Given the description of an element on the screen output the (x, y) to click on. 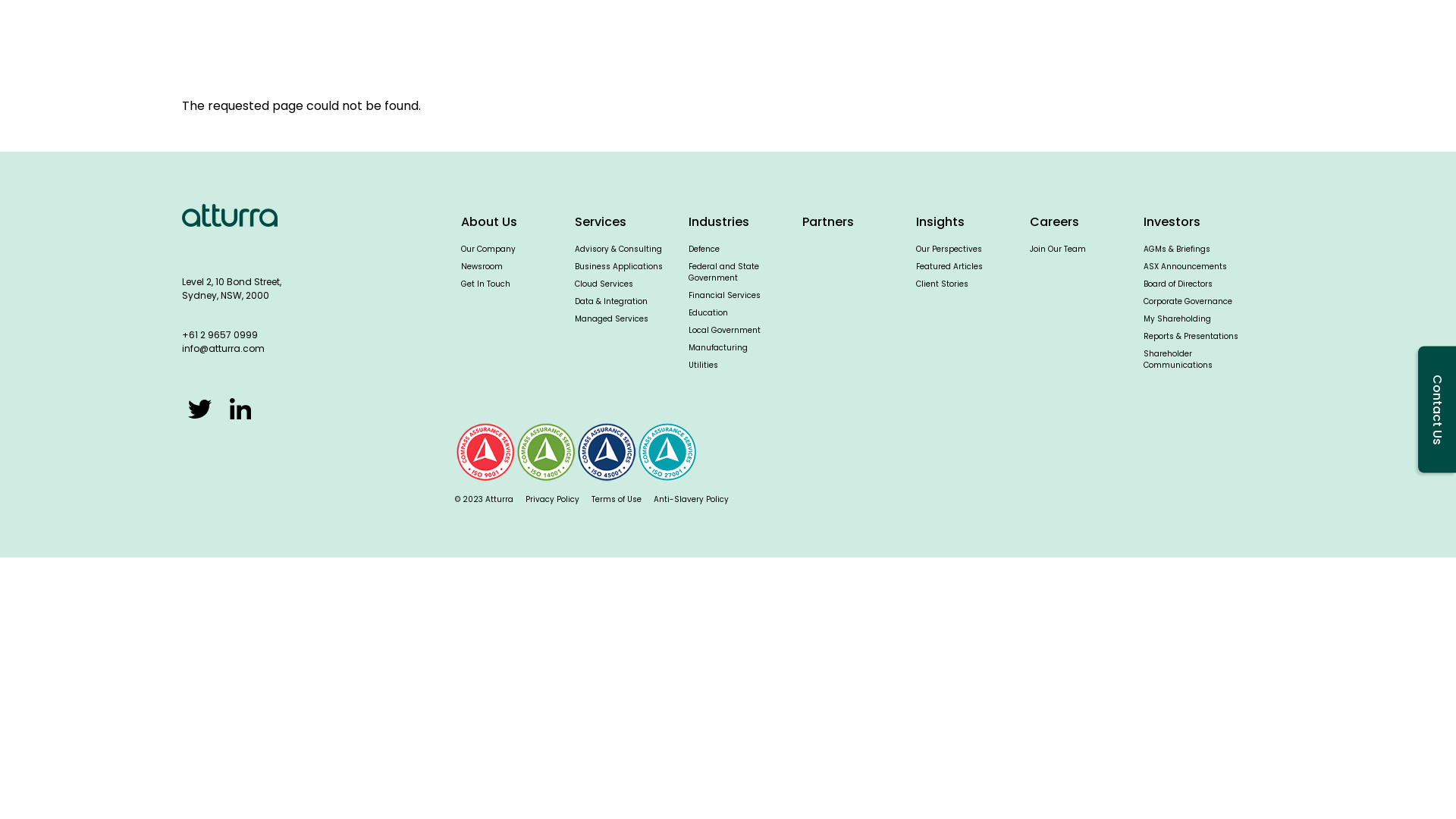
Skip to main content Element type: text (0, 0)
My Shareholding Element type: text (1177, 318)
Partners Element type: text (827, 222)
About Us Element type: text (1245, 42)
Investors Element type: text (1171, 222)
ASX Announcements Element type: text (1184, 266)
Shareholder Communications Element type: text (1177, 359)
About Us Element type: text (489, 222)
Education Element type: text (708, 312)
Local Government Element type: text (724, 329)
Terms of Use Element type: text (616, 499)
Utilities Element type: text (703, 364)
Business Applications Element type: text (618, 266)
Join Our Team Element type: text (1057, 248)
Reports & Presentations Element type: text (1190, 336)
Our Perspectives Element type: text (949, 248)
Services Element type: text (688, 42)
Newsroom Element type: text (481, 266)
Corporate Governance Element type: text (1187, 301)
Board of Directors Element type: text (1177, 283)
Get In Touch Element type: text (485, 283)
+61 2 9657 0999 Element type: text (219, 334)
Careers Element type: text (1057, 42)
AGMs & Briefings Element type: text (1176, 248)
Data & Integration Element type: text (610, 301)
Client Stories Element type: text (942, 283)
Insights Element type: text (968, 42)
Anti-Slavery Policy Element type: text (690, 499)
Investors Element type: text (1149, 42)
Featured Articles Element type: text (949, 266)
Our Company Element type: text (488, 248)
Advisory & Consulting Element type: text (618, 248)
Financial Services Element type: text (724, 295)
Defence Element type: text (703, 248)
Manufacturing Element type: text (717, 347)
Federal and State Government Element type: text (723, 271)
Industries Element type: text (783, 42)
Managed Services Element type: text (611, 318)
info@atturra.com Element type: text (223, 348)
Privacy Policy Element type: text (552, 499)
Home Element type: hover (233, 42)
Cloud Services Element type: text (603, 283)
Partners Element type: text (879, 42)
